Given the description of an element on the screen output the (x, y) to click on. 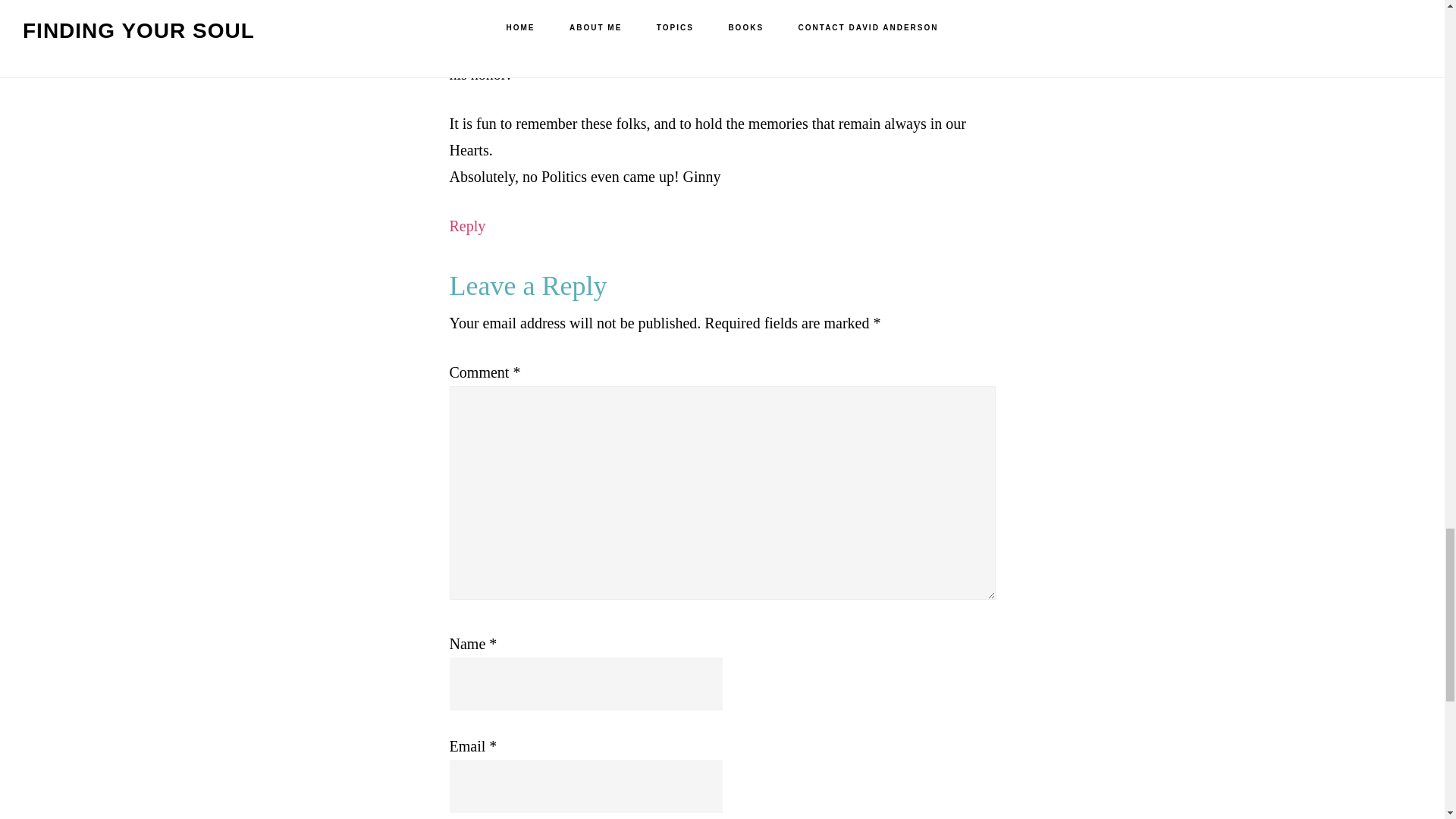
Reply (466, 225)
